Given the description of an element on the screen output the (x, y) to click on. 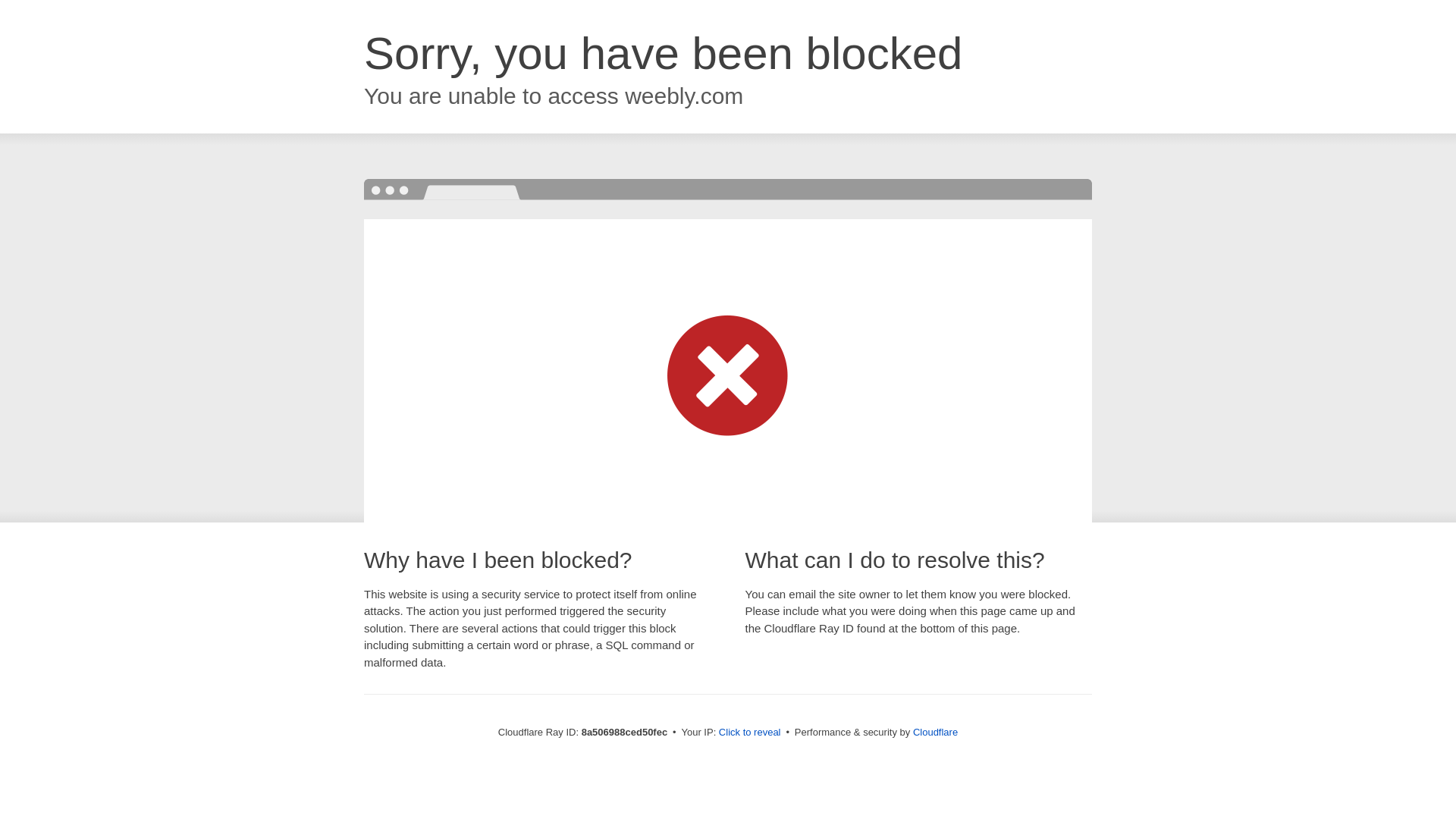
Cloudflare (935, 731)
Click to reveal (749, 732)
